Given the description of an element on the screen output the (x, y) to click on. 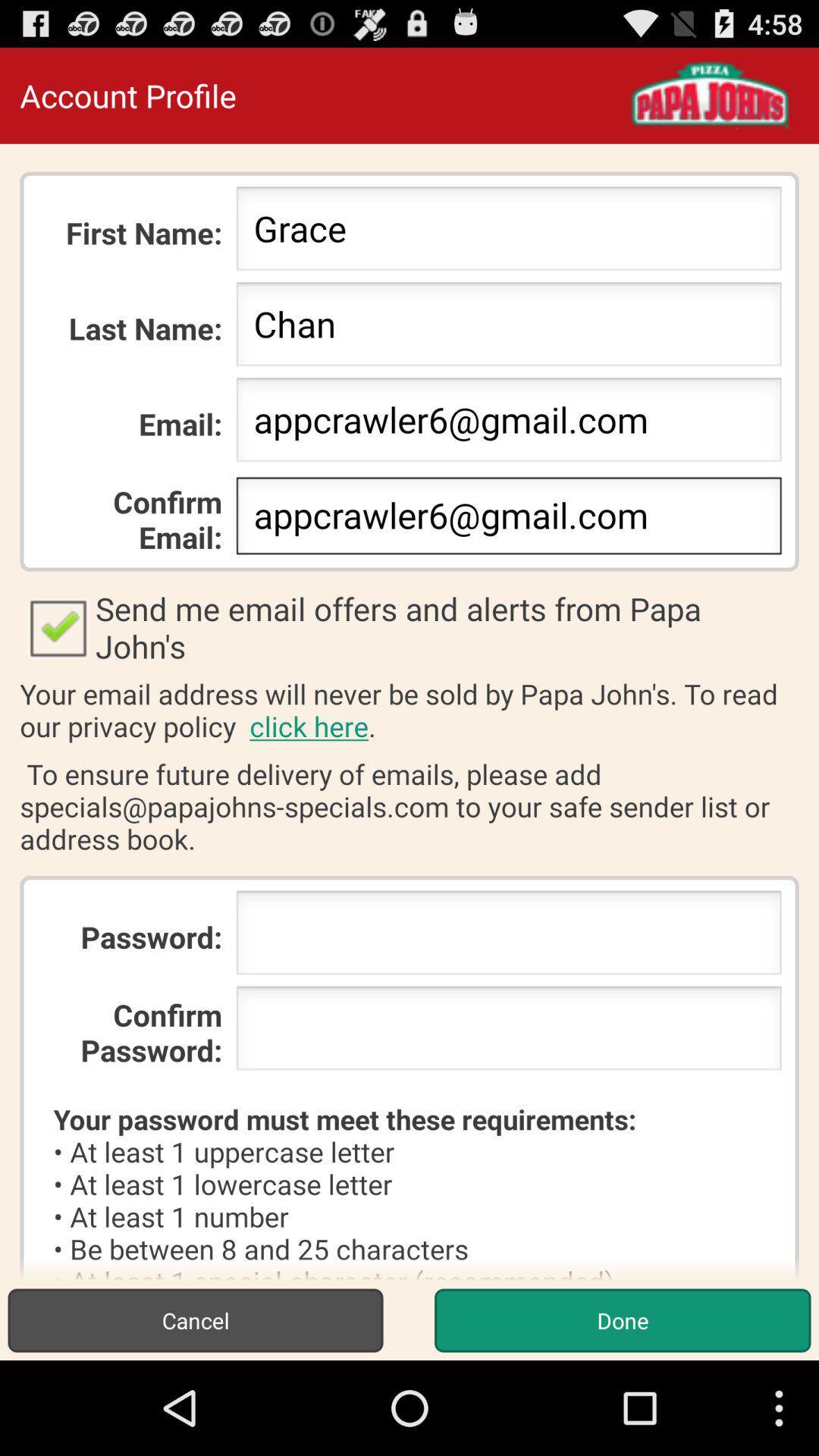
enter password (508, 937)
